Given the description of an element on the screen output the (x, y) to click on. 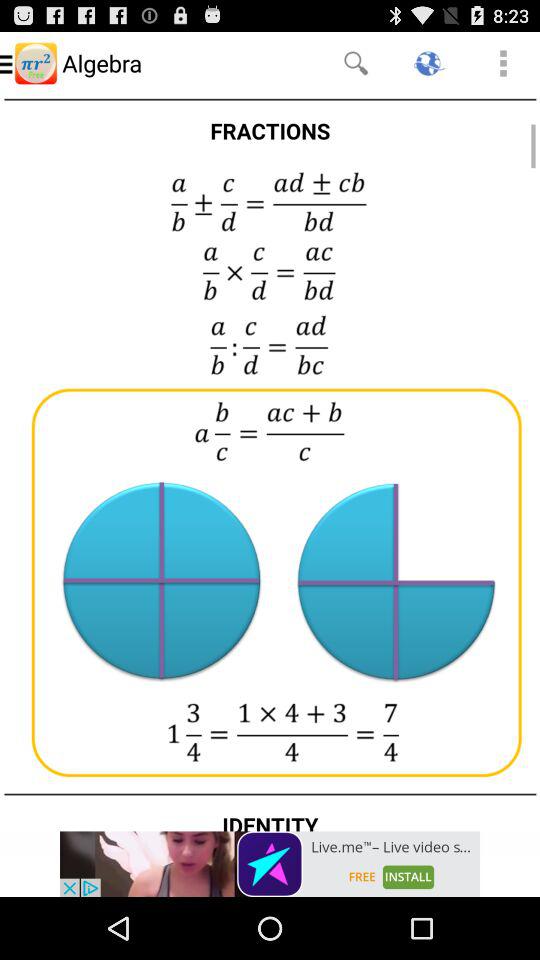
formula page (270, 462)
